Given the description of an element on the screen output the (x, y) to click on. 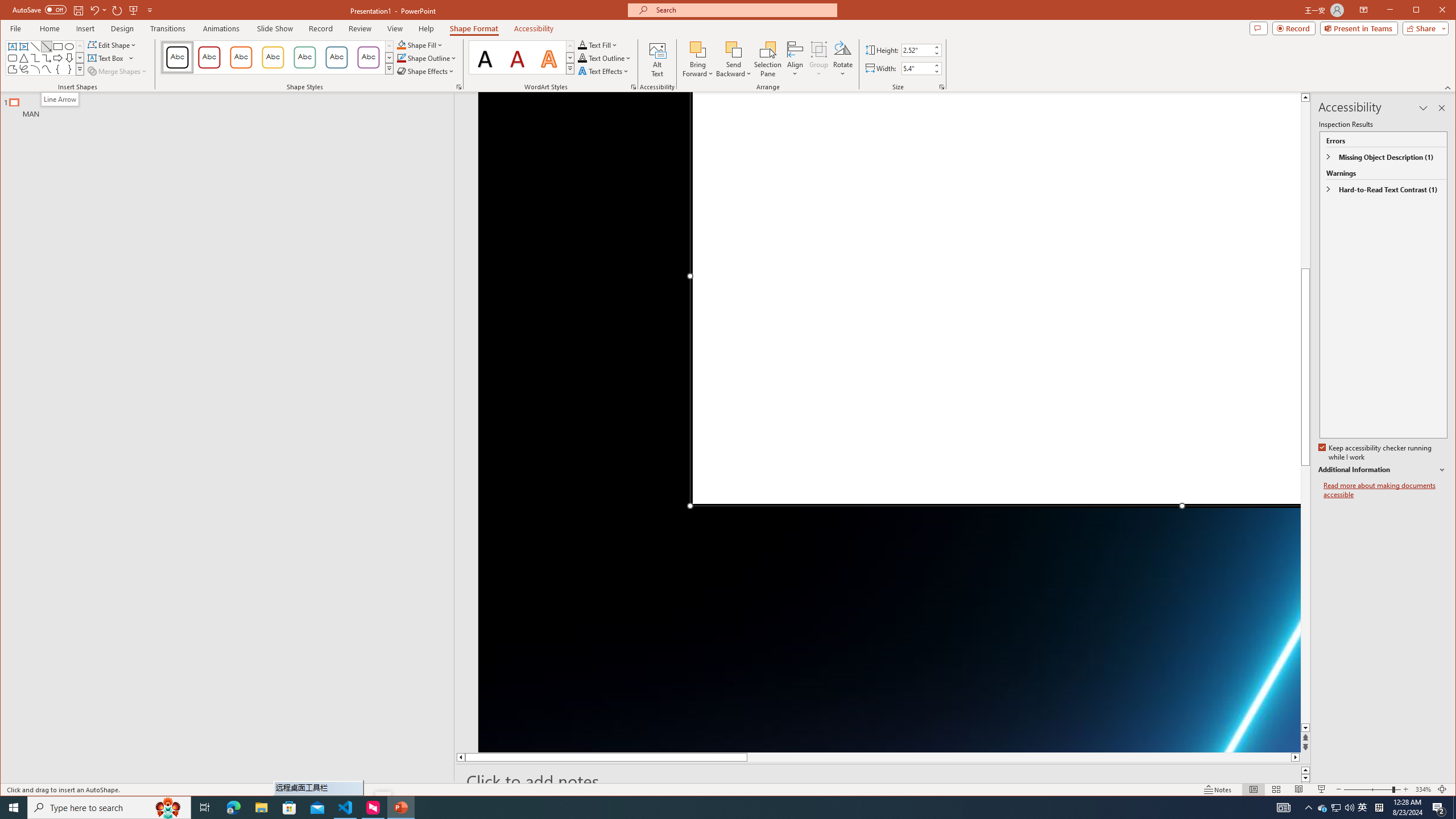
Bring Forward (697, 48)
